Given the description of an element on the screen output the (x, y) to click on. 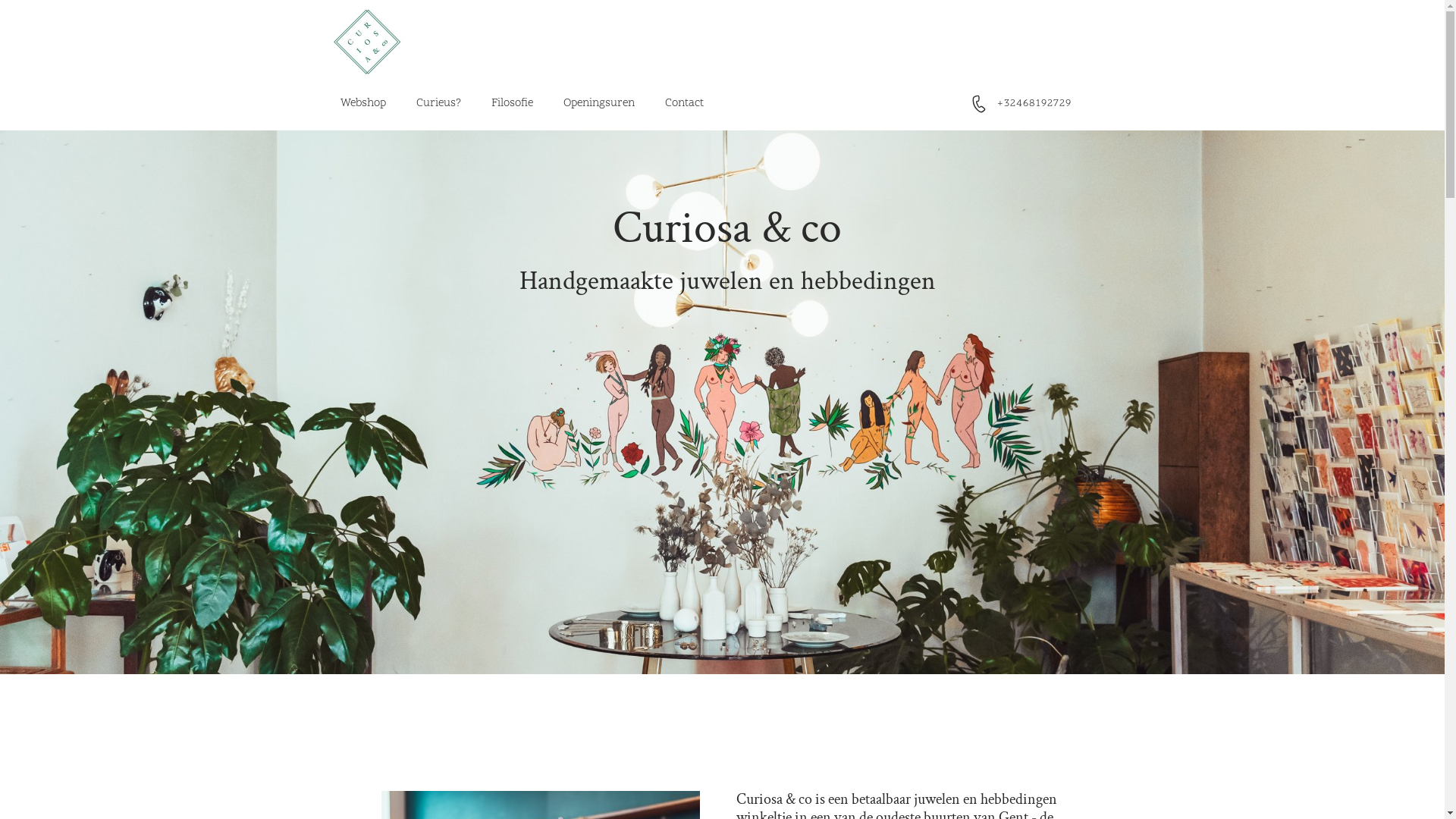
Openingsuren Element type: text (598, 103)
Contact Element type: text (683, 103)
+32468192729 Element type: text (1033, 103)
Curieus? Element type: text (437, 103)
Webshop Element type: text (362, 103)
Filosofie Element type: text (512, 103)
